Given the description of an element on the screen output the (x, y) to click on. 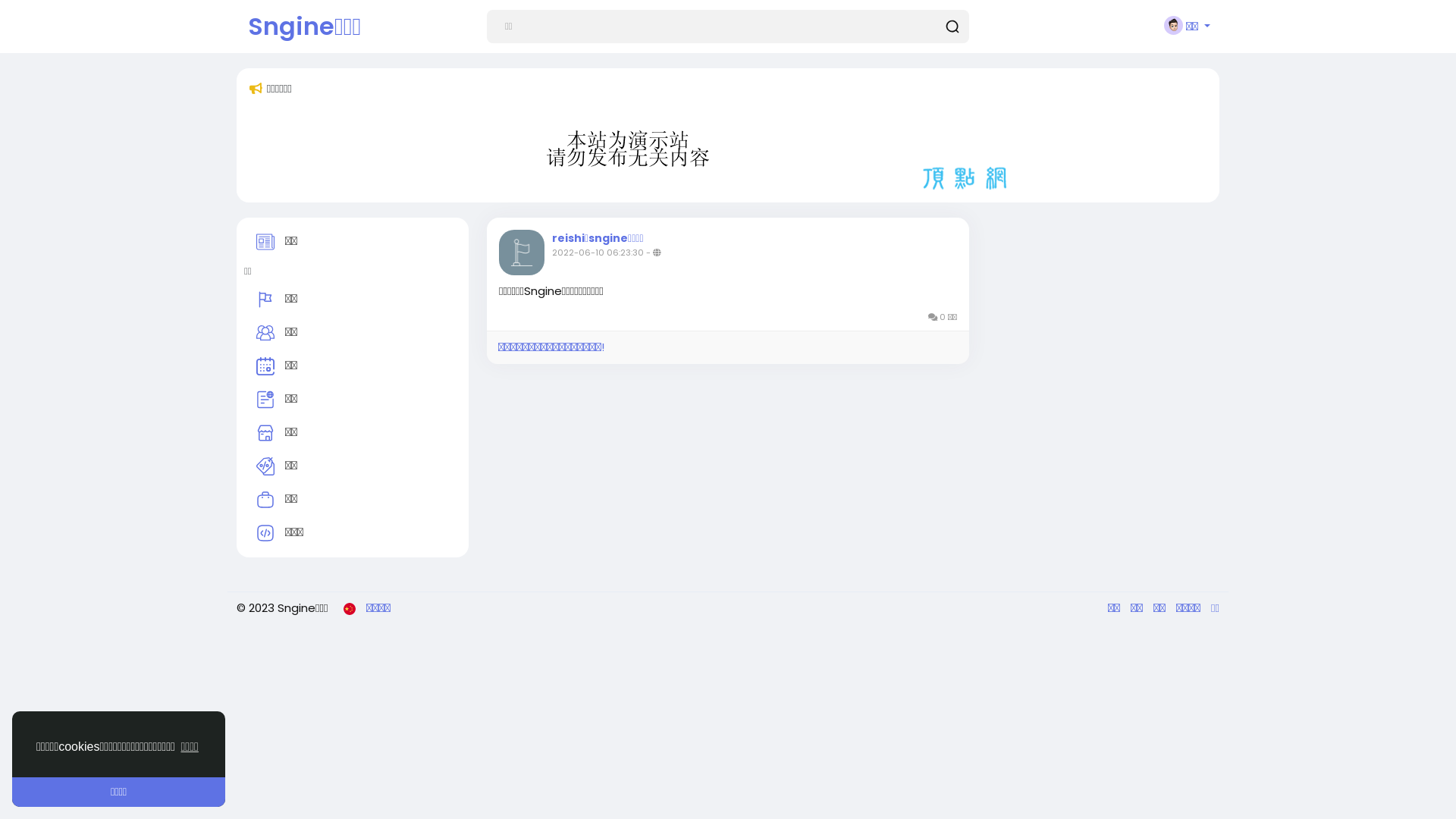
2022-06-10 06:23:30 Element type: text (597, 252)
